Given the description of an element on the screen output the (x, y) to click on. 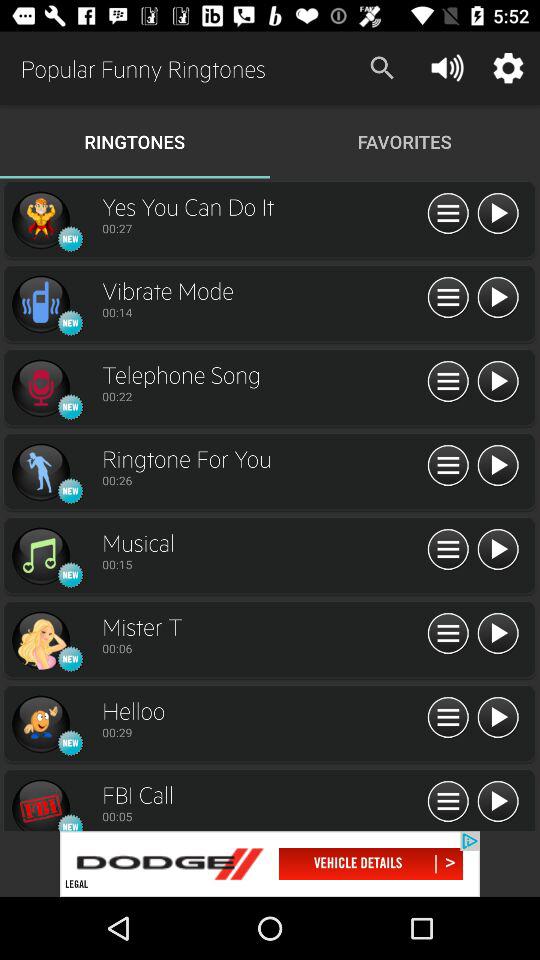
stop button (497, 213)
